Given the description of an element on the screen output the (x, y) to click on. 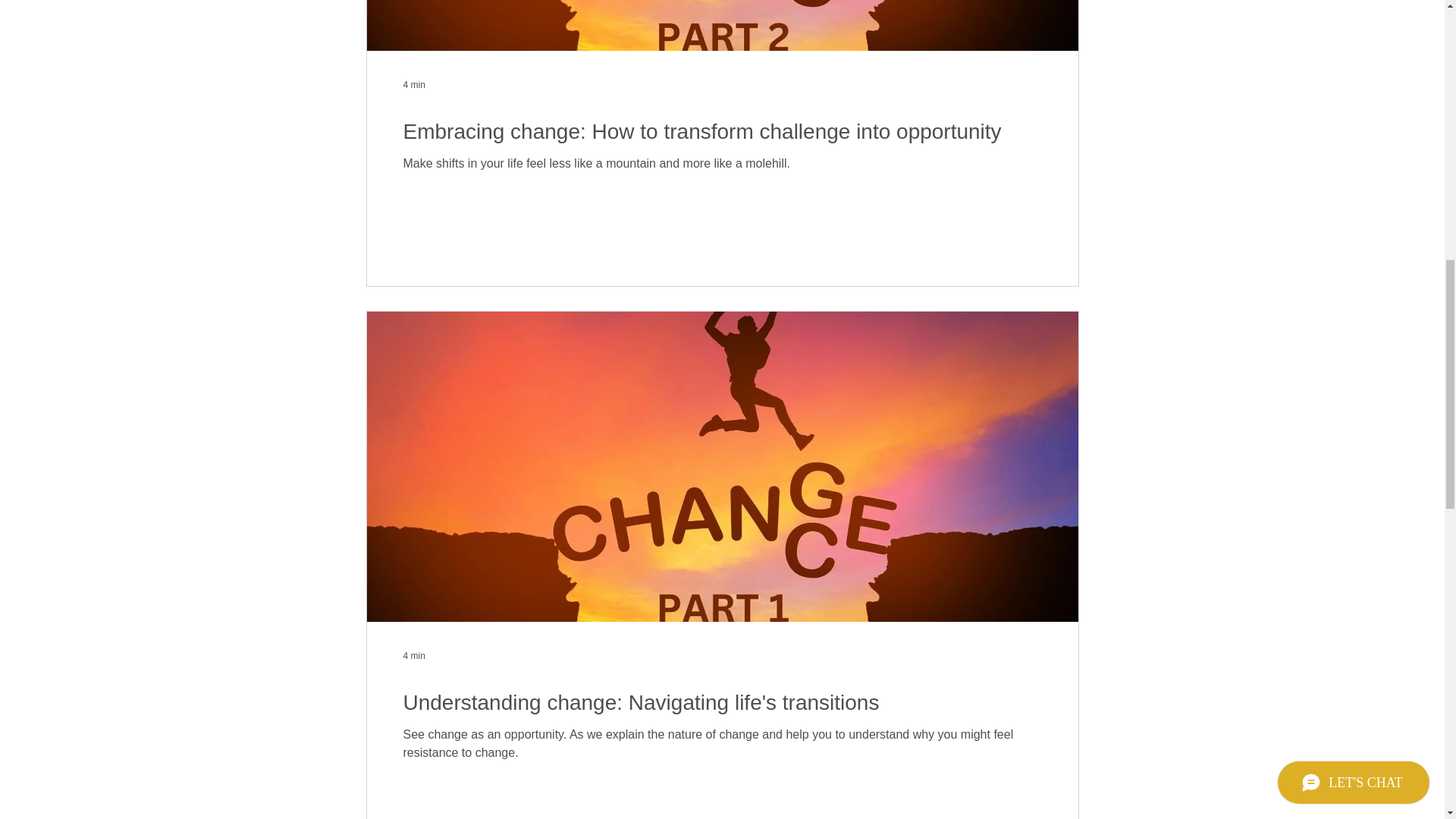
Understanding change: Navigating life's transitions (722, 701)
4 min (414, 83)
4 min (414, 655)
